Given the description of an element on the screen output the (x, y) to click on. 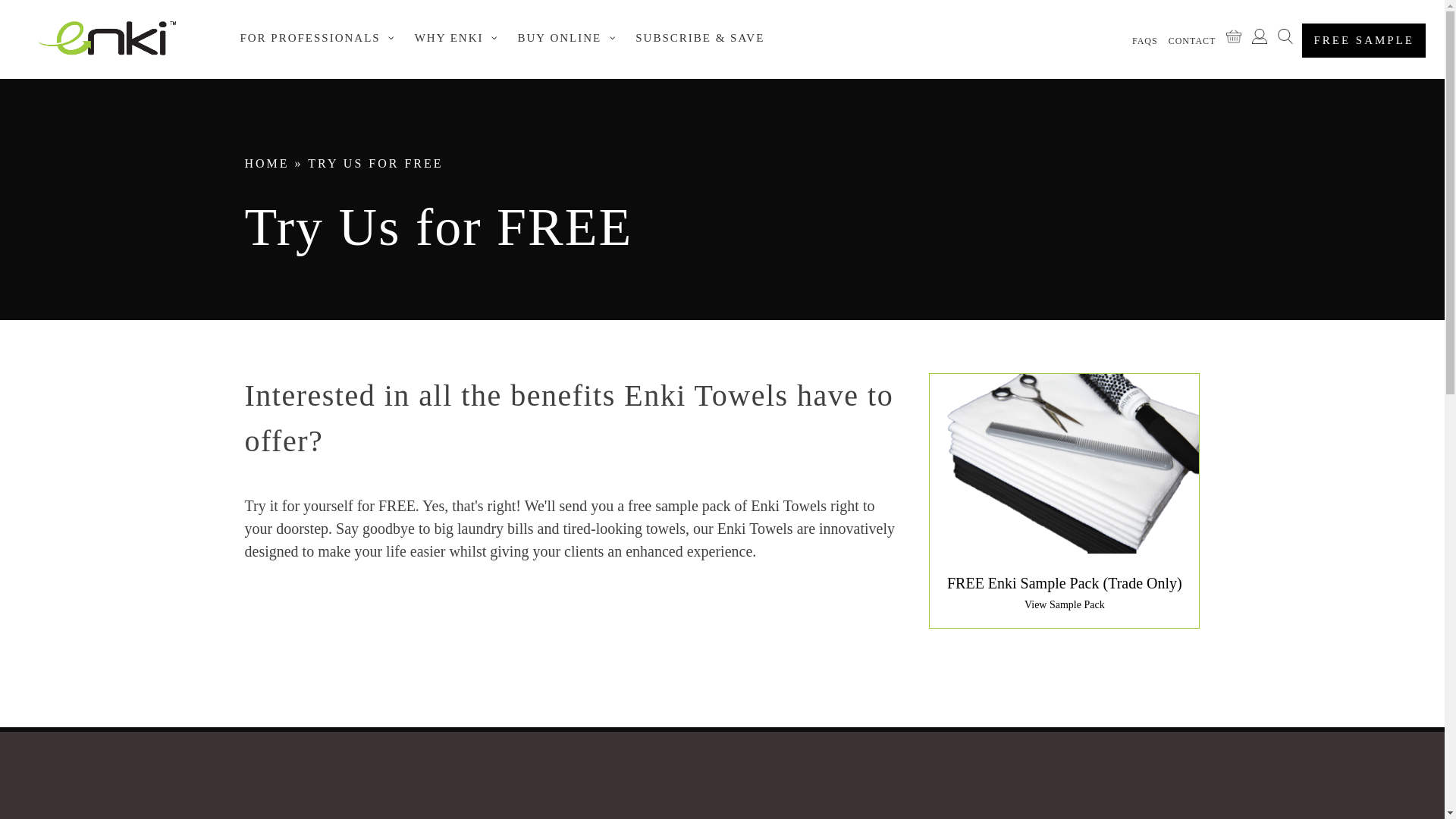
WHY ENKI (454, 37)
Enki Towels Logo (106, 39)
FOR PROFESSIONALS (315, 37)
BUY ONLINE (565, 37)
